Given the description of an element on the screen output the (x, y) to click on. 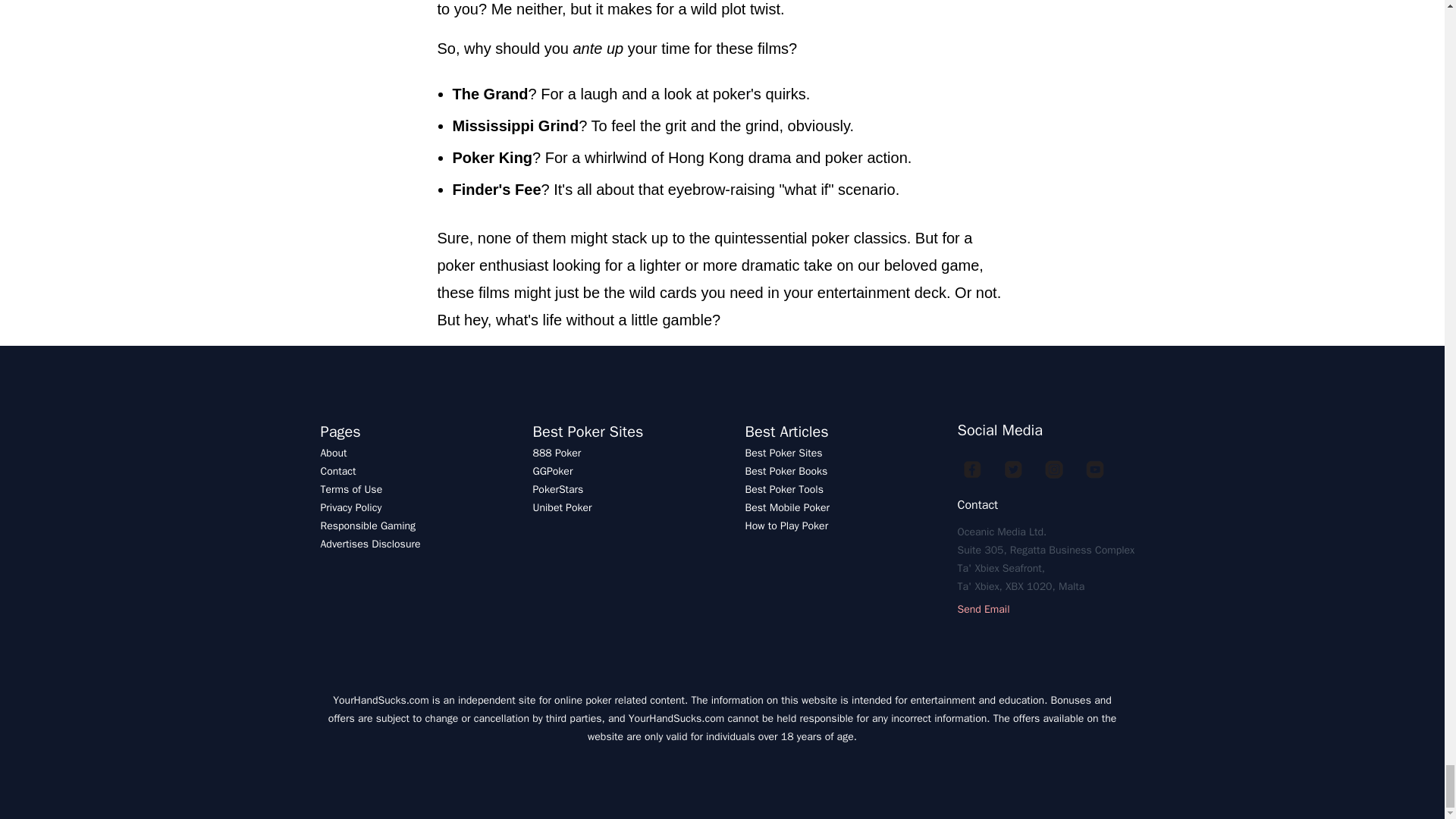
Best Poker Tools (783, 489)
PokerStars (557, 489)
Best Mobile Poker (786, 507)
888 Poker (556, 452)
Unibet Poker (561, 507)
About (333, 452)
Privacy Policy (350, 507)
Advertises Disclosure (370, 543)
How to Play Poker (786, 525)
Contact (337, 471)
